Given the description of an element on the screen output the (x, y) to click on. 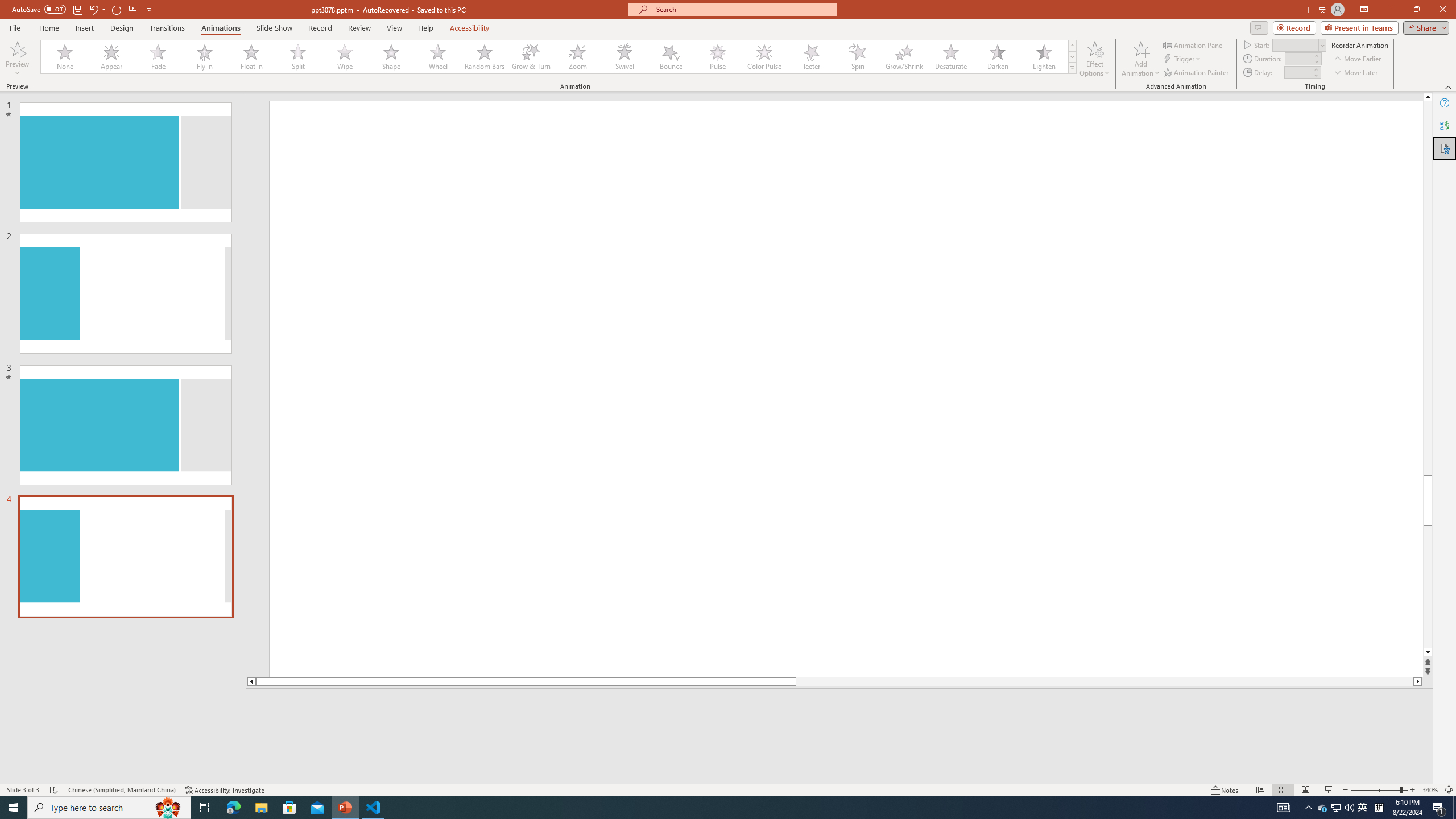
Animation Delay (1297, 72)
Animation Duration (1298, 58)
Teeter (810, 56)
Zoom 340% (1430, 790)
Add Animation (1141, 58)
